Given the description of an element on the screen output the (x, y) to click on. 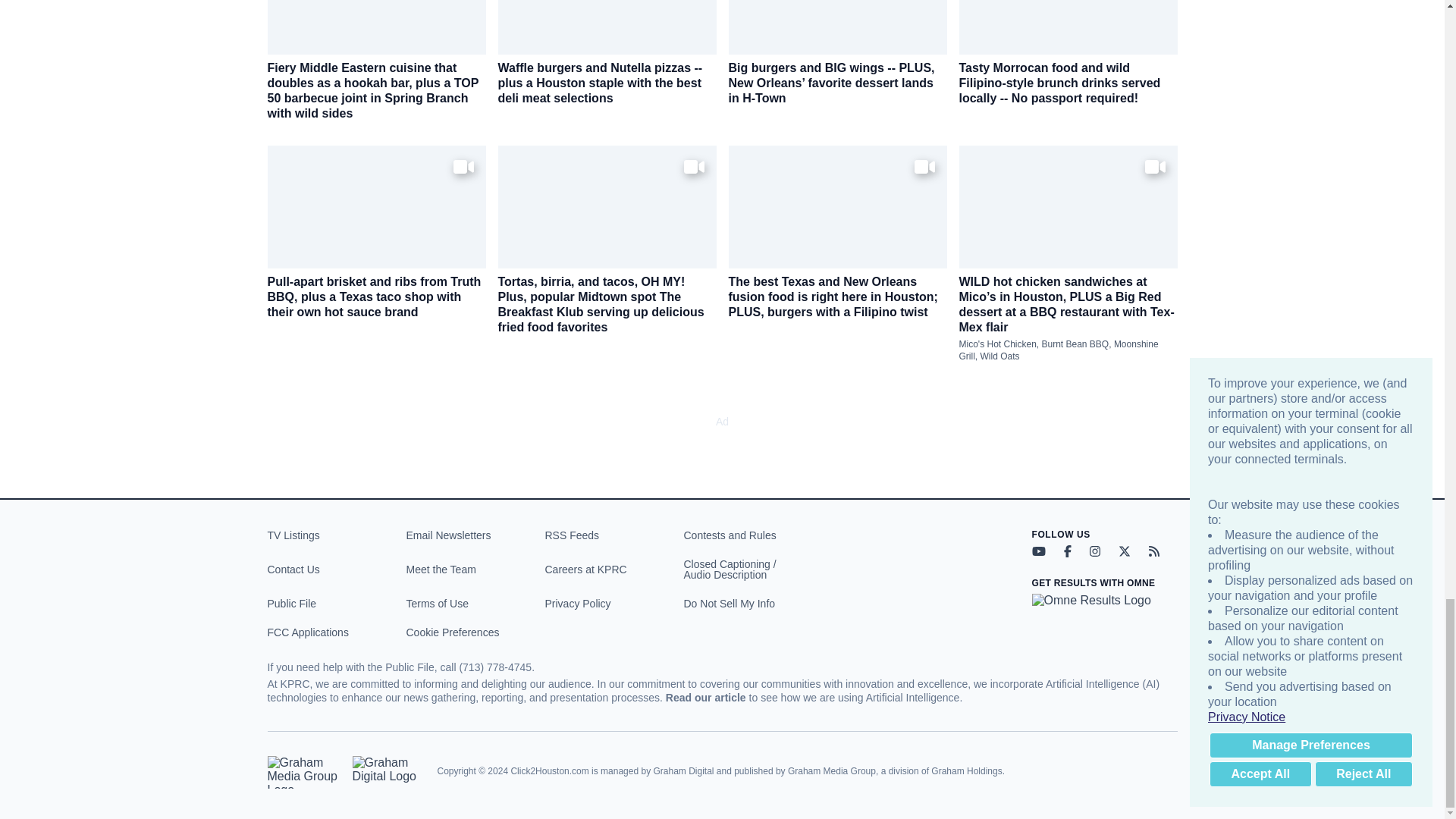
youtube (1037, 551)
